Given the description of an element on the screen output the (x, y) to click on. 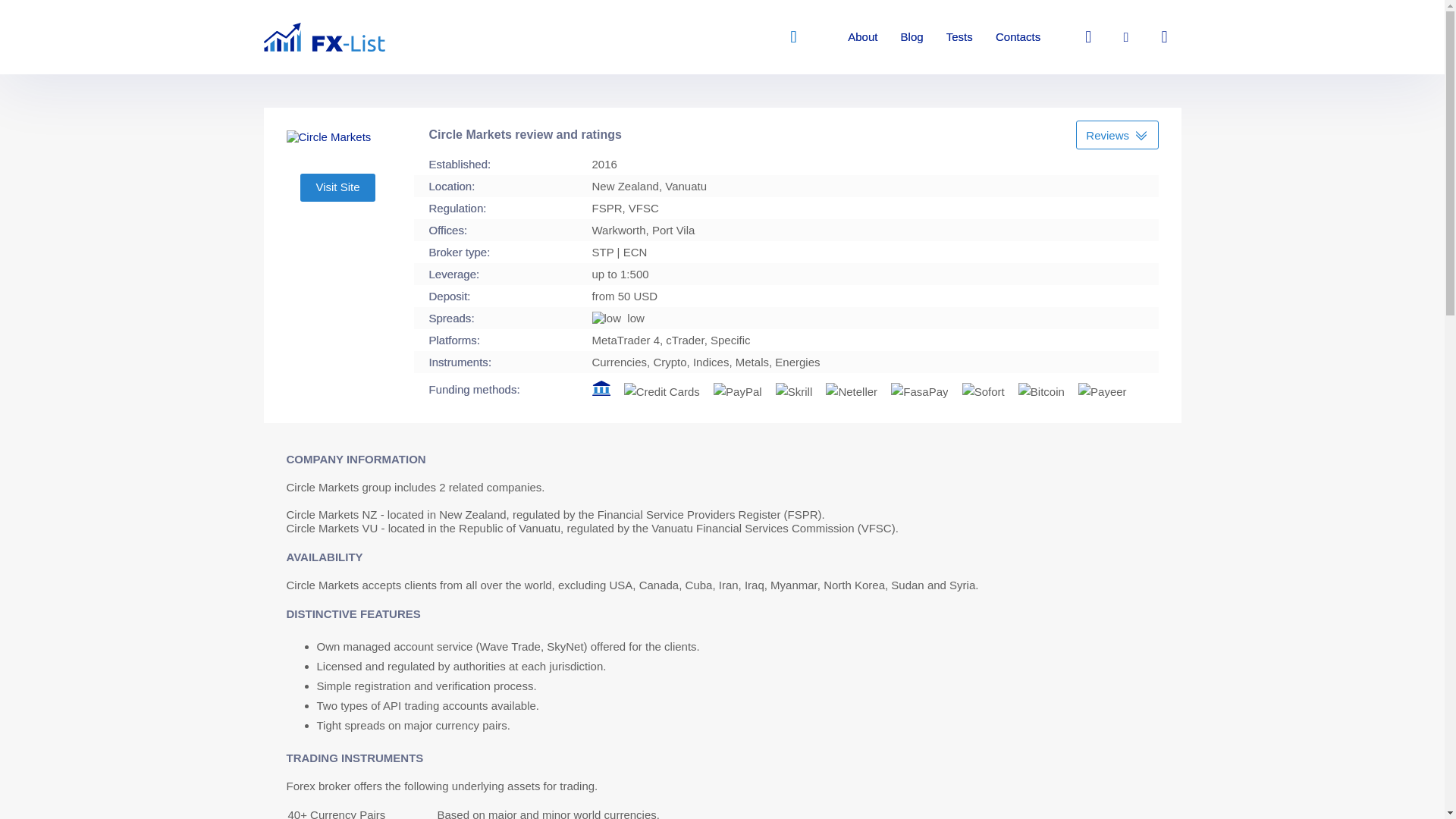
Neteller (851, 392)
PayPal (737, 392)
Contacts (1018, 36)
FasaPay (919, 392)
About (862, 36)
Sofort (983, 392)
Reviews (1116, 134)
Credit Cards (662, 392)
Payeer (1102, 392)
Tests (959, 36)
Bitcoin (1040, 392)
Wire Transfer (600, 387)
Blog (912, 36)
Visit Site (336, 187)
Skrill (794, 392)
